Given the description of an element on the screen output the (x, y) to click on. 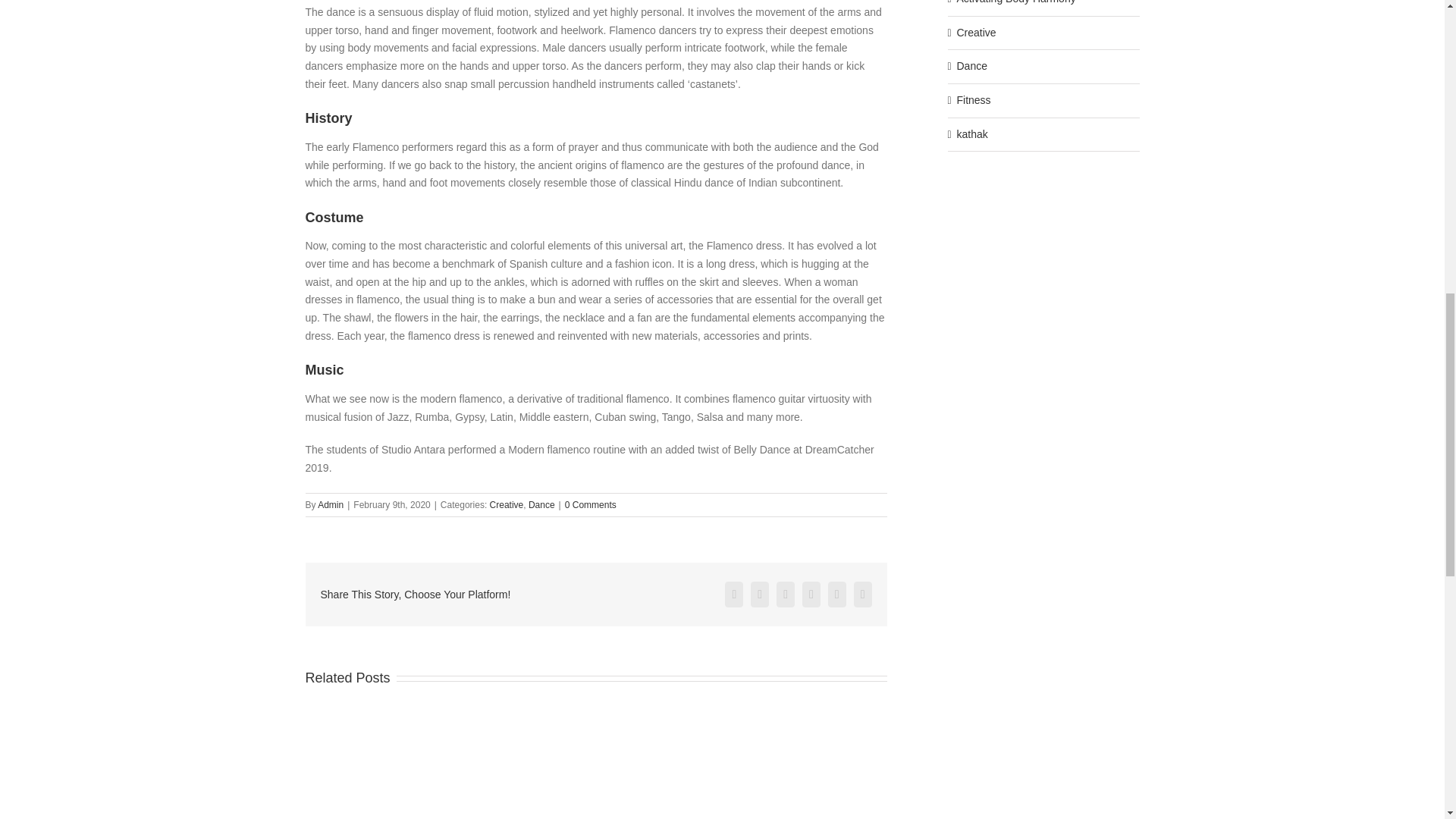
Creative (506, 504)
0 Comments (589, 504)
Posts by Admin (330, 504)
Admin (330, 504)
Dance (541, 504)
